Given the description of an element on the screen output the (x, y) to click on. 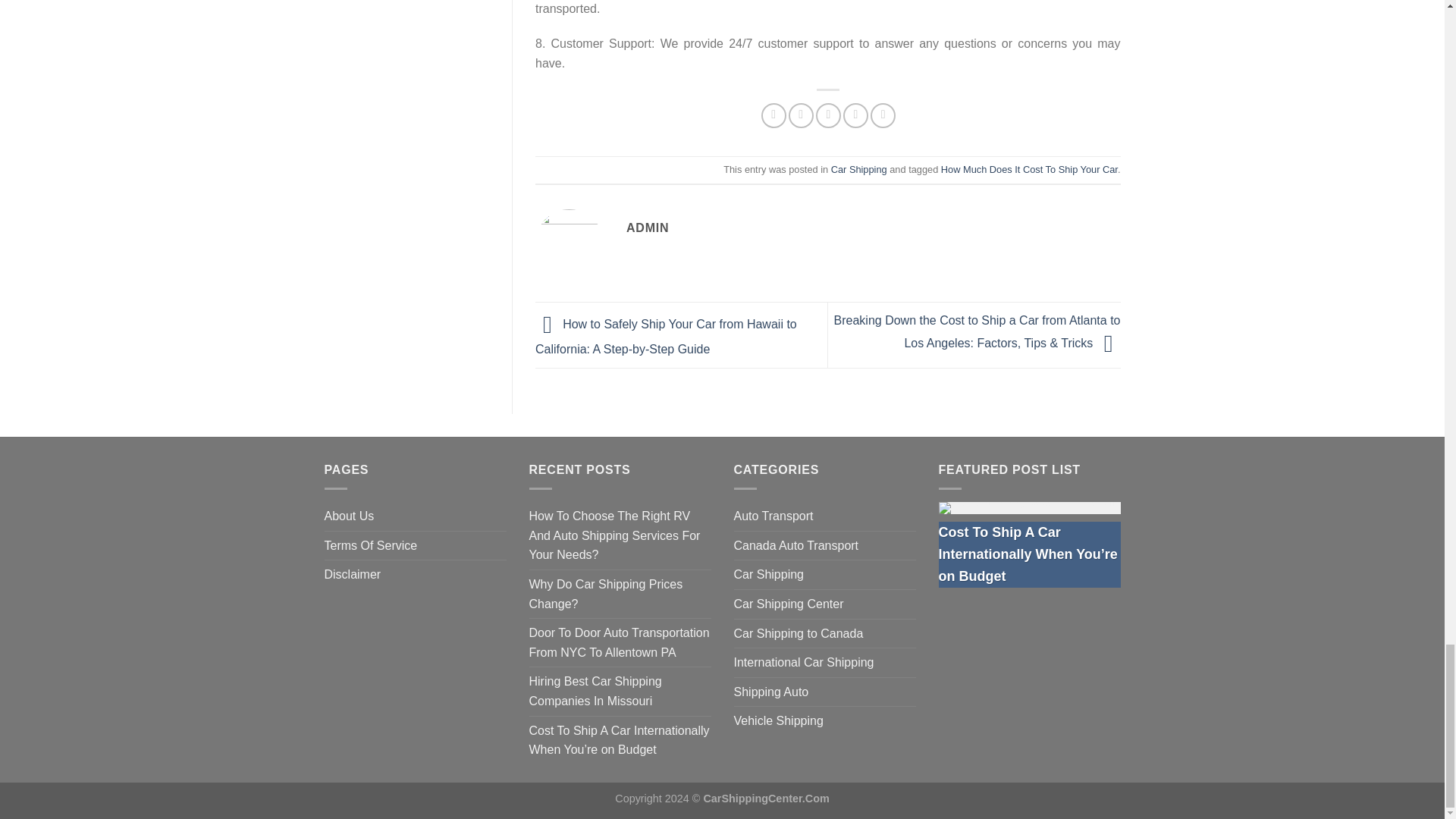
Terms Of Service (370, 545)
About Us (349, 516)
Pin on Pinterest (855, 115)
Share on LinkedIn (882, 115)
Email to a Friend (828, 115)
How Much Does It Cost To Ship Your Car (1029, 169)
Share on Twitter (801, 115)
Share on Facebook (773, 115)
Car Shipping (858, 169)
